Given the description of an element on the screen output the (x, y) to click on. 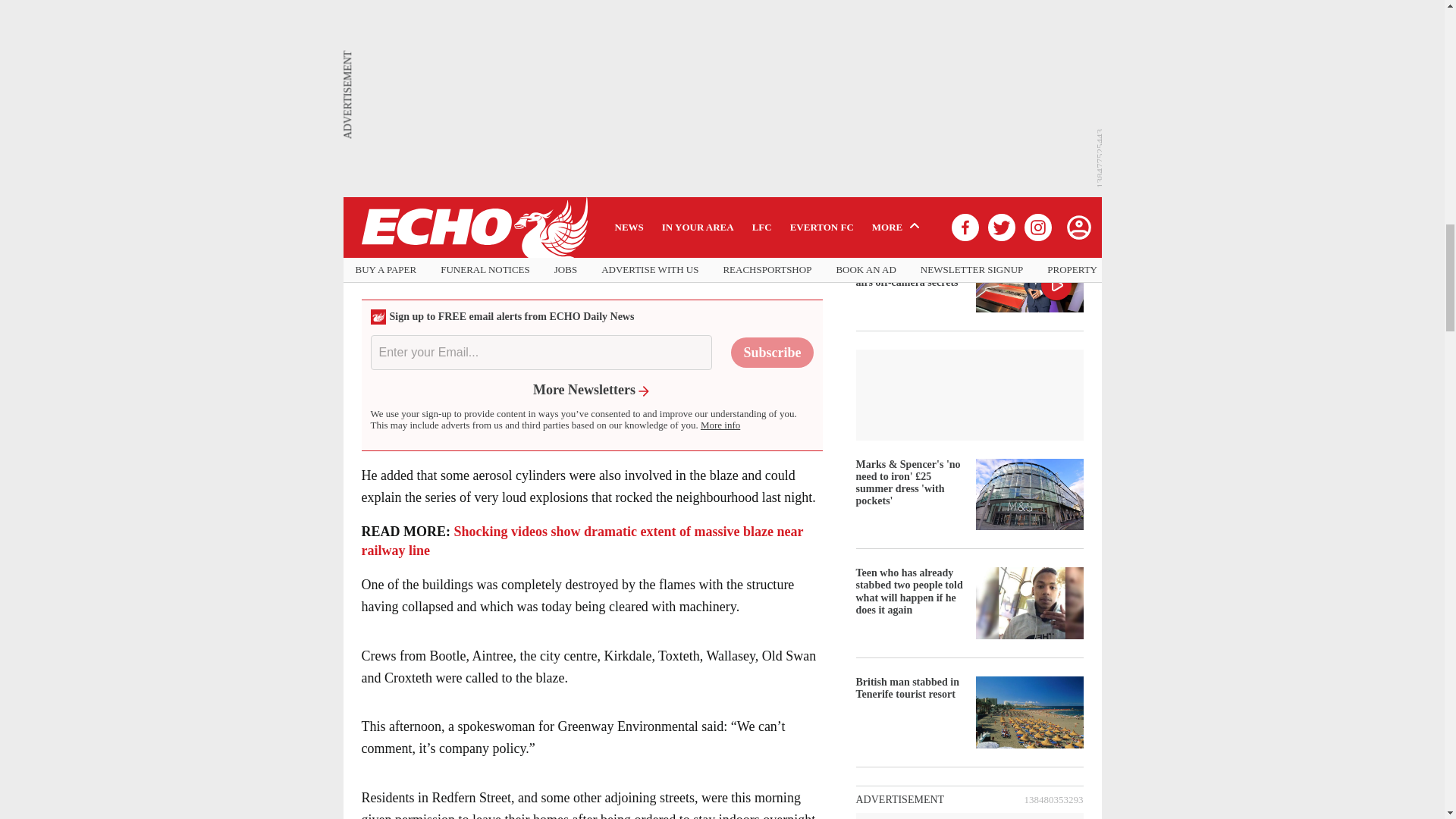
3rd party ad content (590, 195)
